Given the description of an element on the screen output the (x, y) to click on. 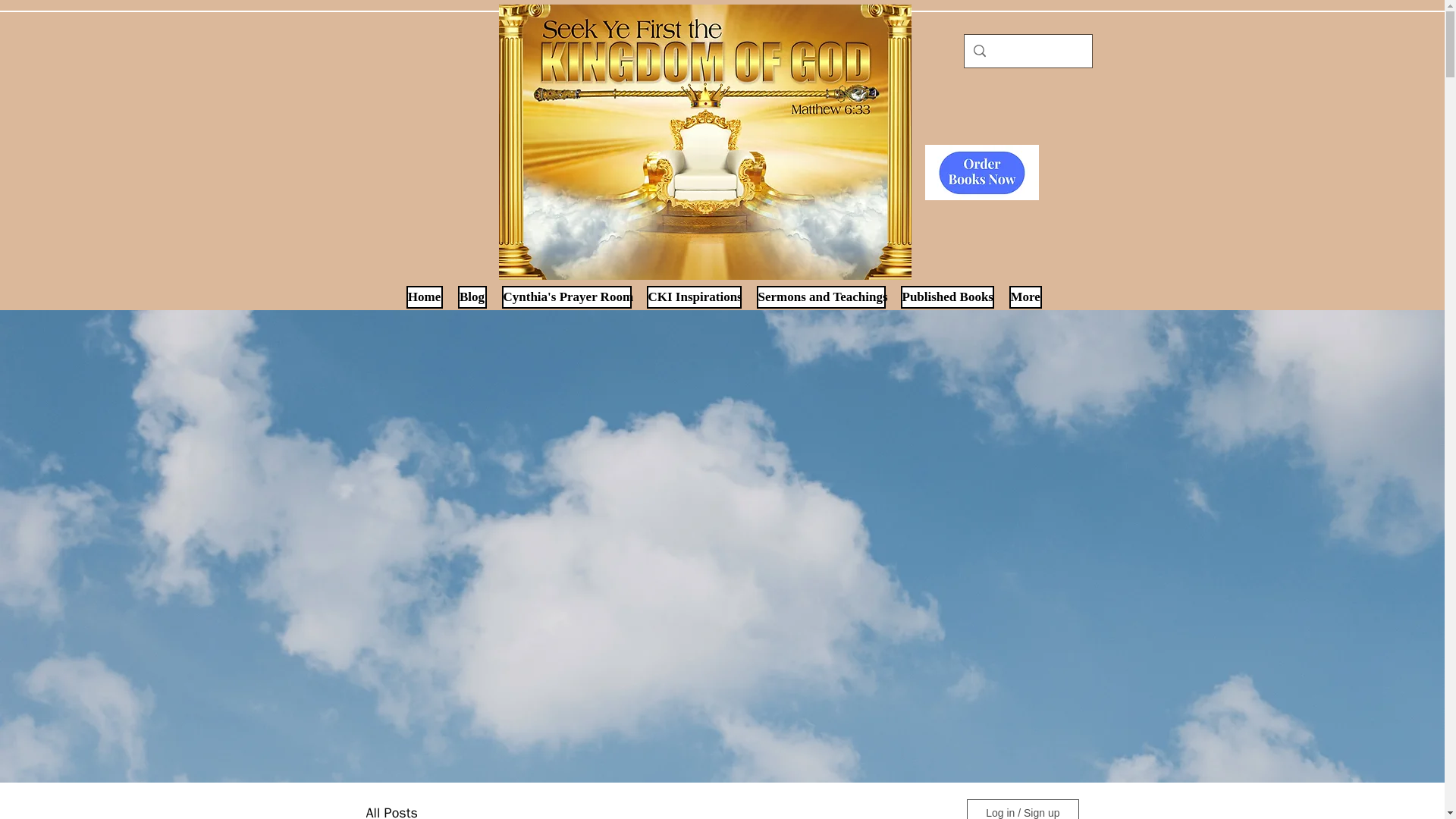
Cynthia's Prayer Room (566, 296)
Sermons and Teachings (821, 296)
Home (424, 296)
CKI Inspirations (693, 296)
All Posts (390, 811)
Blog (472, 296)
Published Books (947, 296)
